Given the description of an element on the screen output the (x, y) to click on. 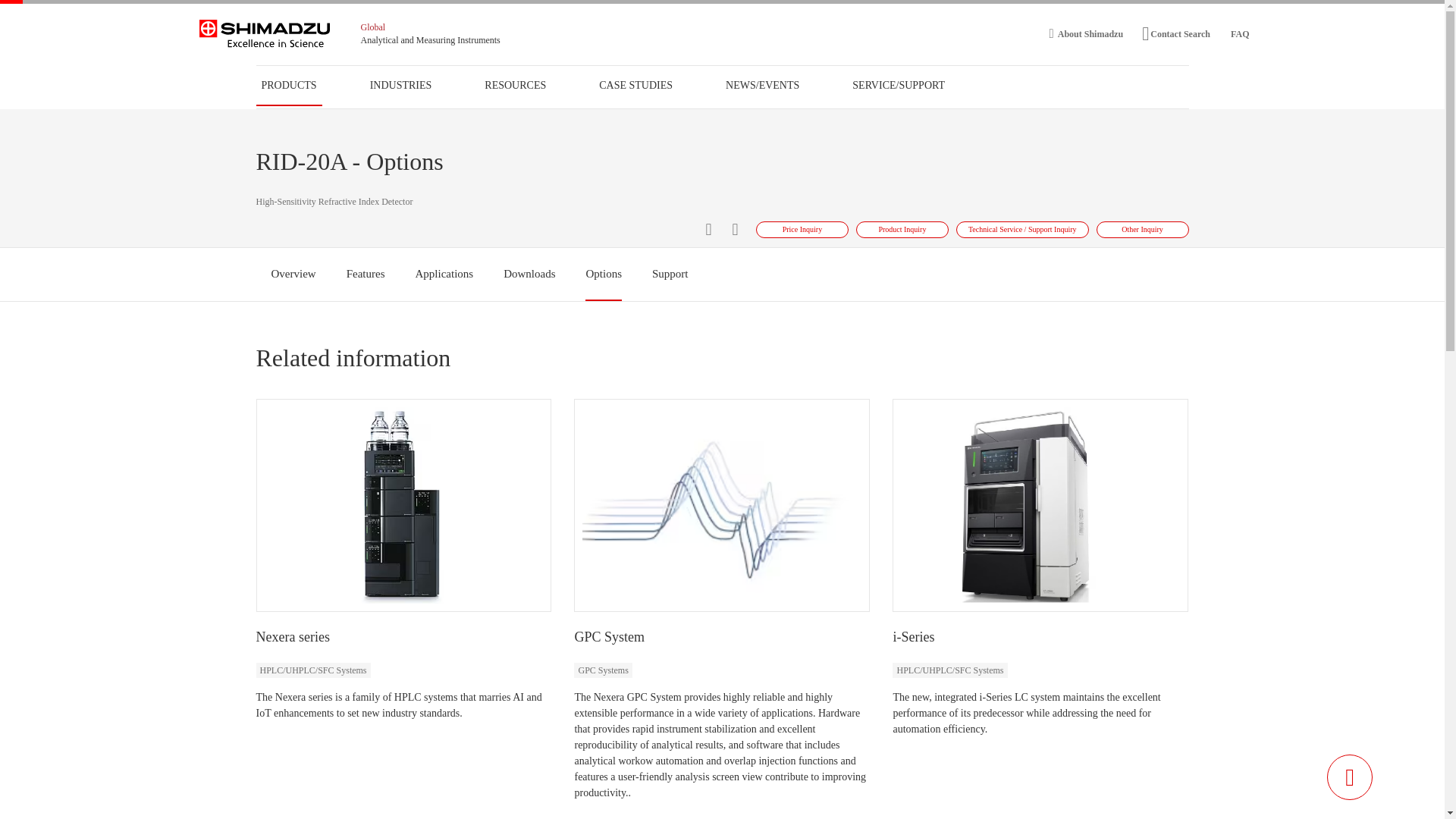
GPC System (609, 637)
Nexera series (293, 637)
i-Series (913, 637)
INDUSTRIES (400, 84)
Other Inquiry (1142, 229)
Applications (443, 273)
About Shimadzu (1086, 33)
Price Inquiry (801, 229)
RESOURCES (515, 84)
Contact Search (1175, 33)
